Given the description of an element on the screen output the (x, y) to click on. 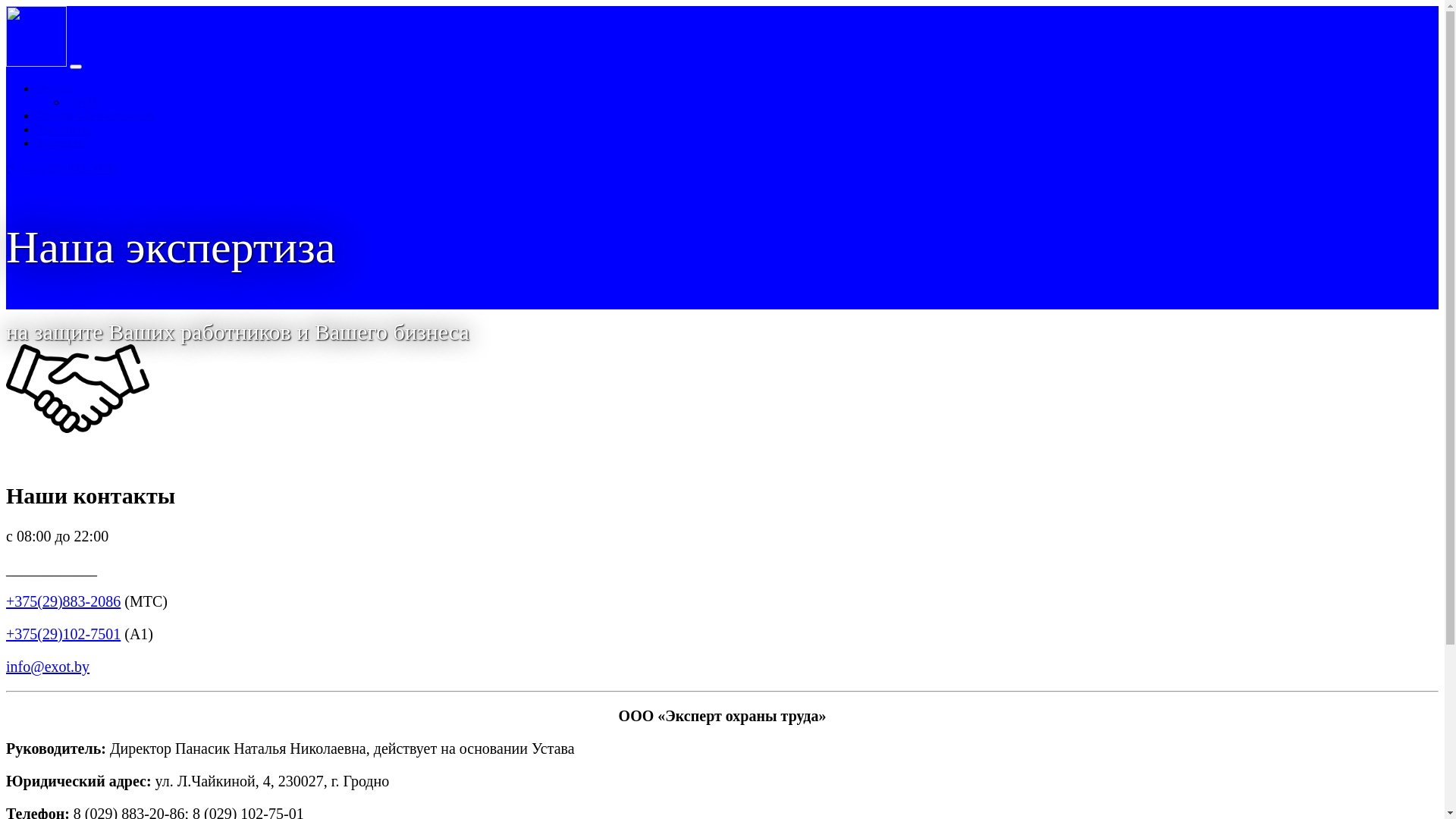
+375(29) 883-20-86 Element type: text (61, 168)
+375(29)883-2086 Element type: text (63, 601)
+375(29)102-7501 Element type: text (63, 633)
info@exot.by Element type: text (47, 666)
